Given the description of an element on the screen output the (x, y) to click on. 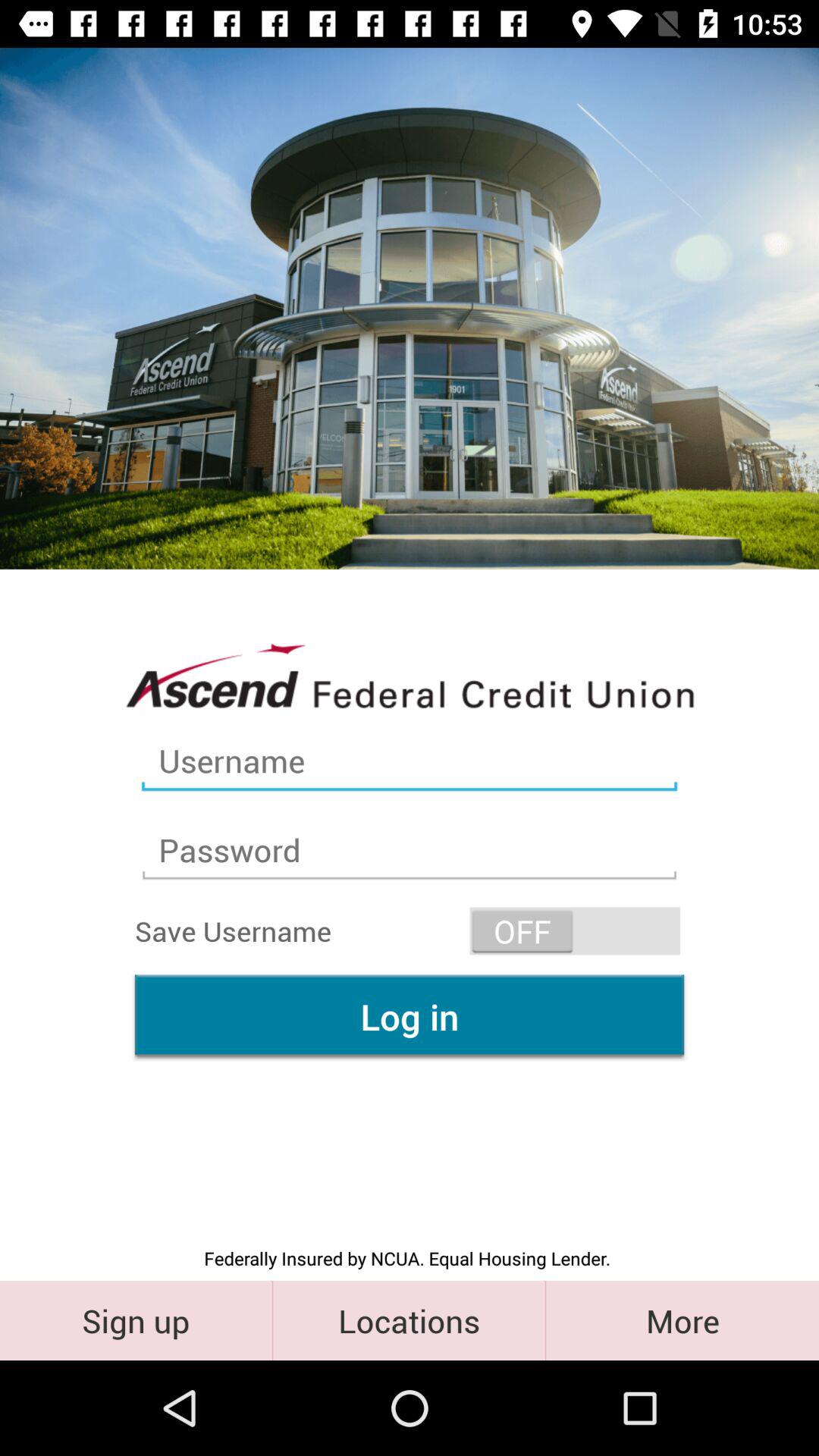
tap the log in icon (409, 1016)
